Given the description of an element on the screen output the (x, y) to click on. 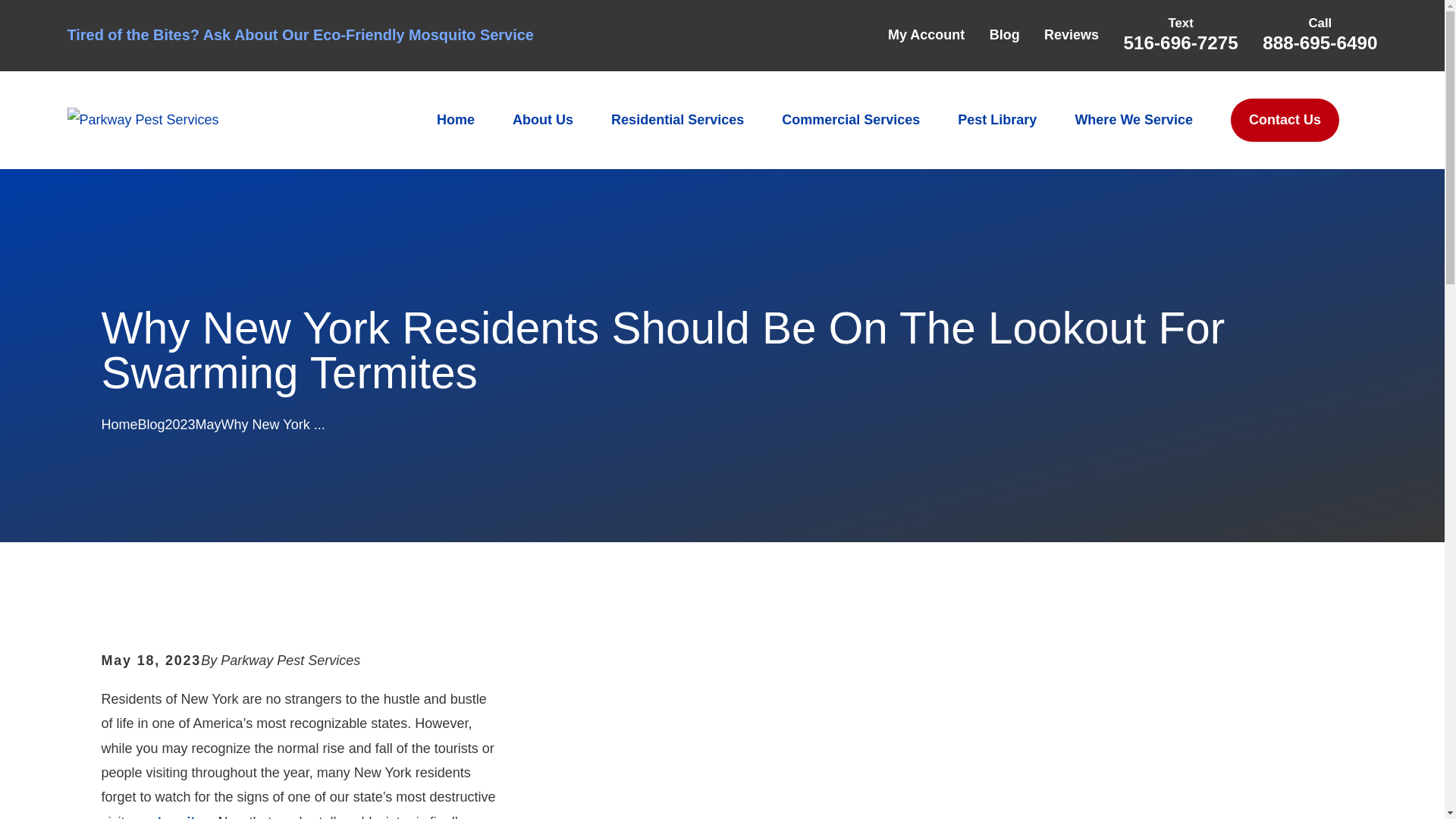
Commercial Services (850, 120)
Residential Services (677, 120)
Home (142, 119)
Reviews (1071, 34)
About Us (542, 120)
My Account (925, 34)
Go Home (118, 424)
888-695-6490 (1319, 42)
Blog (1005, 34)
